Given the description of an element on the screen output the (x, y) to click on. 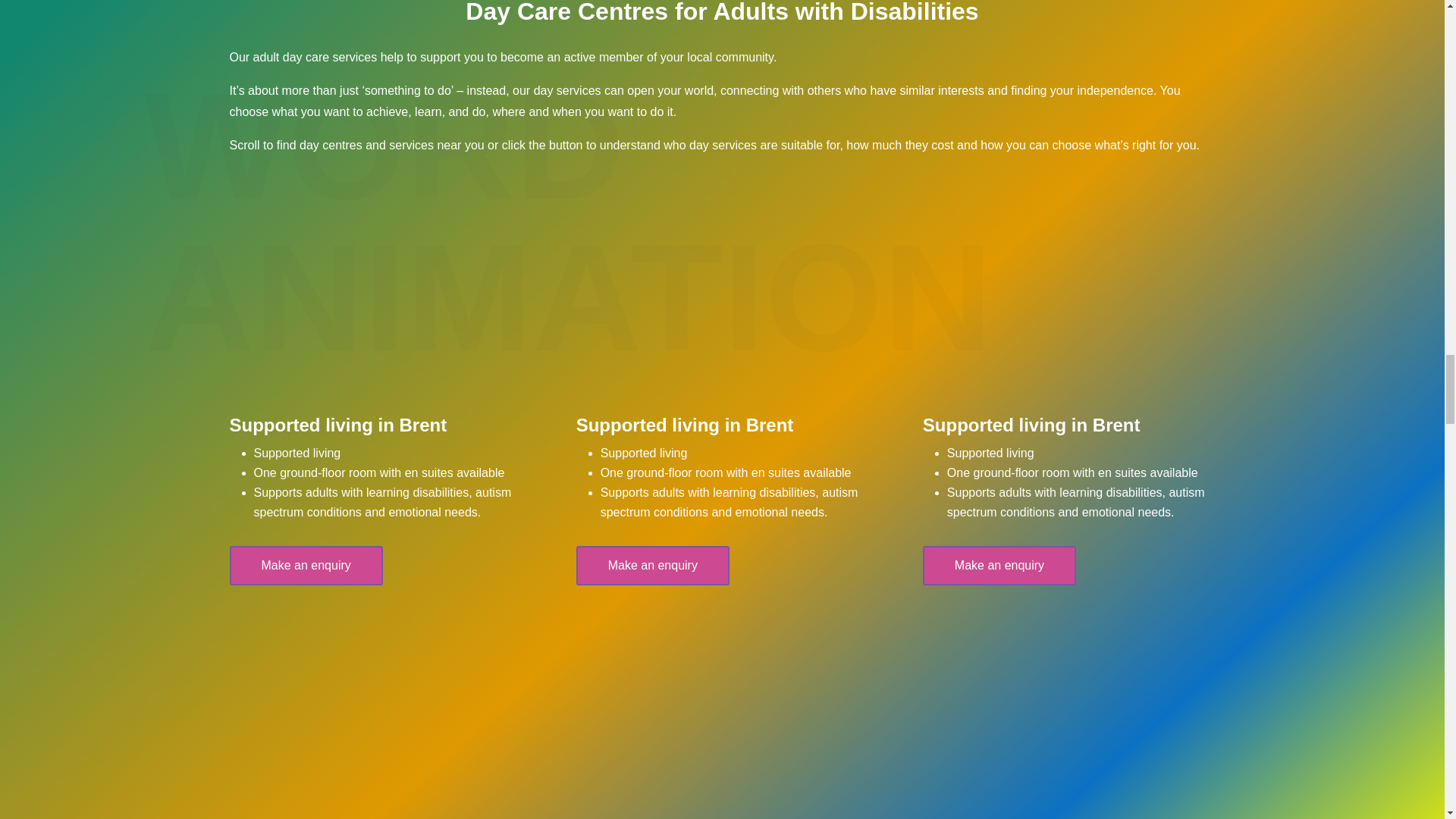
Make an enquiry (999, 565)
Make an enquiry (652, 565)
Make an enquiry (304, 565)
